Given the description of an element on the screen output the (x, y) to click on. 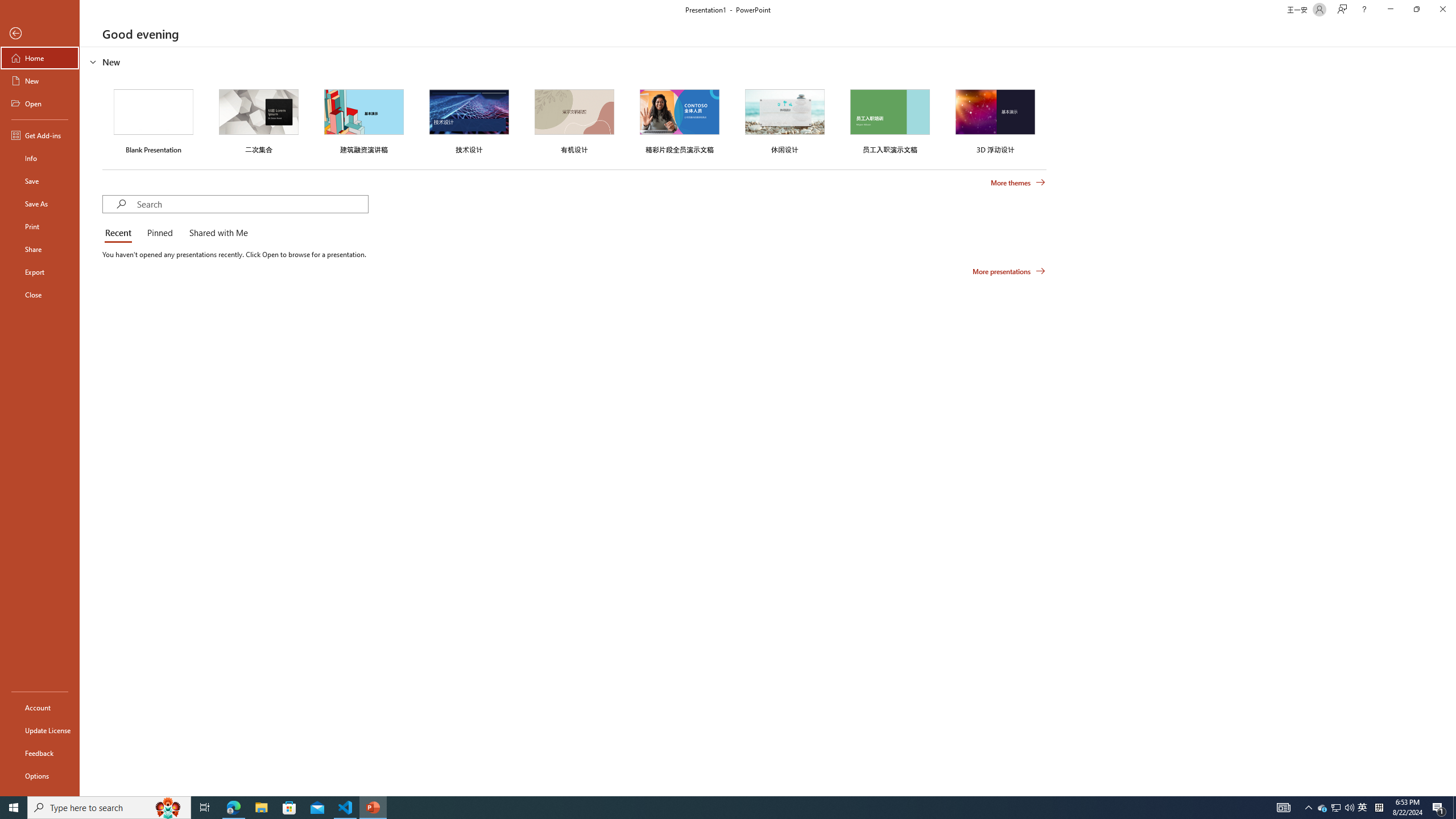
Pinned (159, 233)
Print (40, 225)
Get Add-ins (40, 134)
Options (40, 775)
Recent (119, 233)
Account (40, 707)
